Given the description of an element on the screen output the (x, y) to click on. 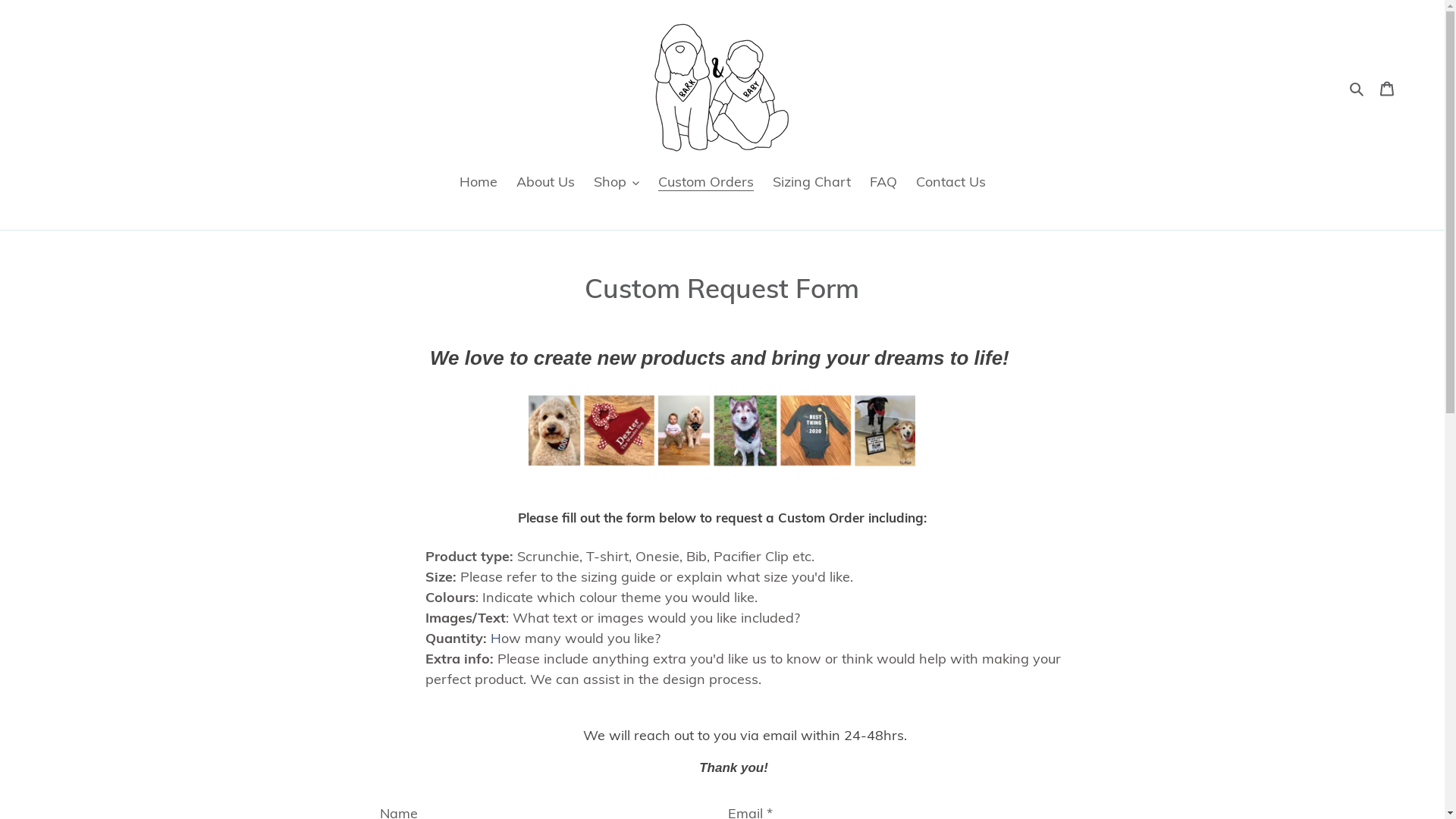
Contact Us Element type: text (950, 182)
Custom Orders Element type: text (705, 182)
FAQ Element type: text (882, 182)
About Us Element type: text (544, 182)
Shop Element type: text (615, 182)
Sizing Chart Element type: text (810, 182)
Cart Element type: text (1386, 87)
Search Element type: text (1357, 87)
Home Element type: text (478, 182)
